Given the description of an element on the screen output the (x, y) to click on. 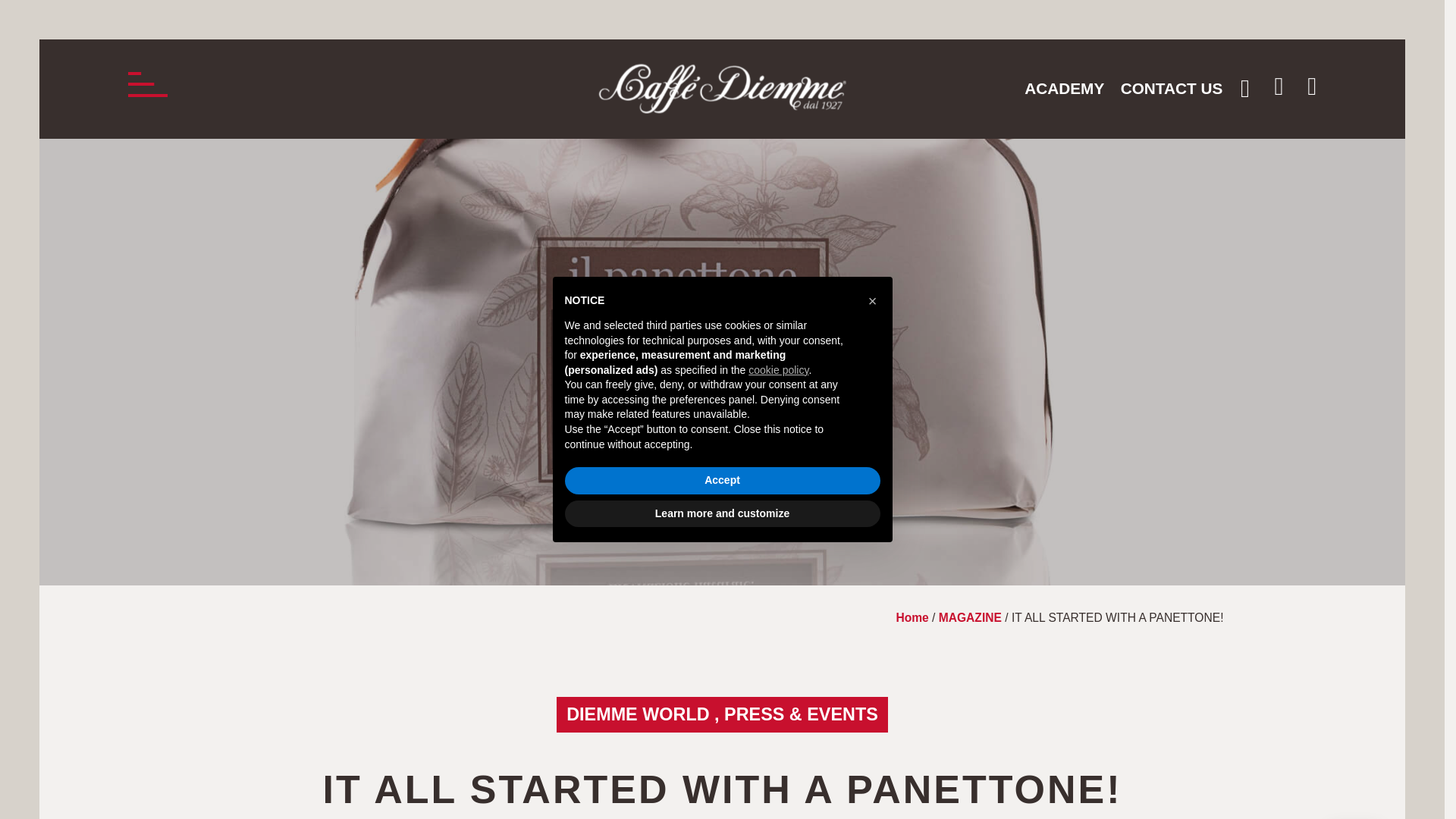
Home (911, 617)
MAGAZINE (970, 617)
CONTACT US (1170, 89)
ACADEMY (1064, 89)
